Given the description of an element on the screen output the (x, y) to click on. 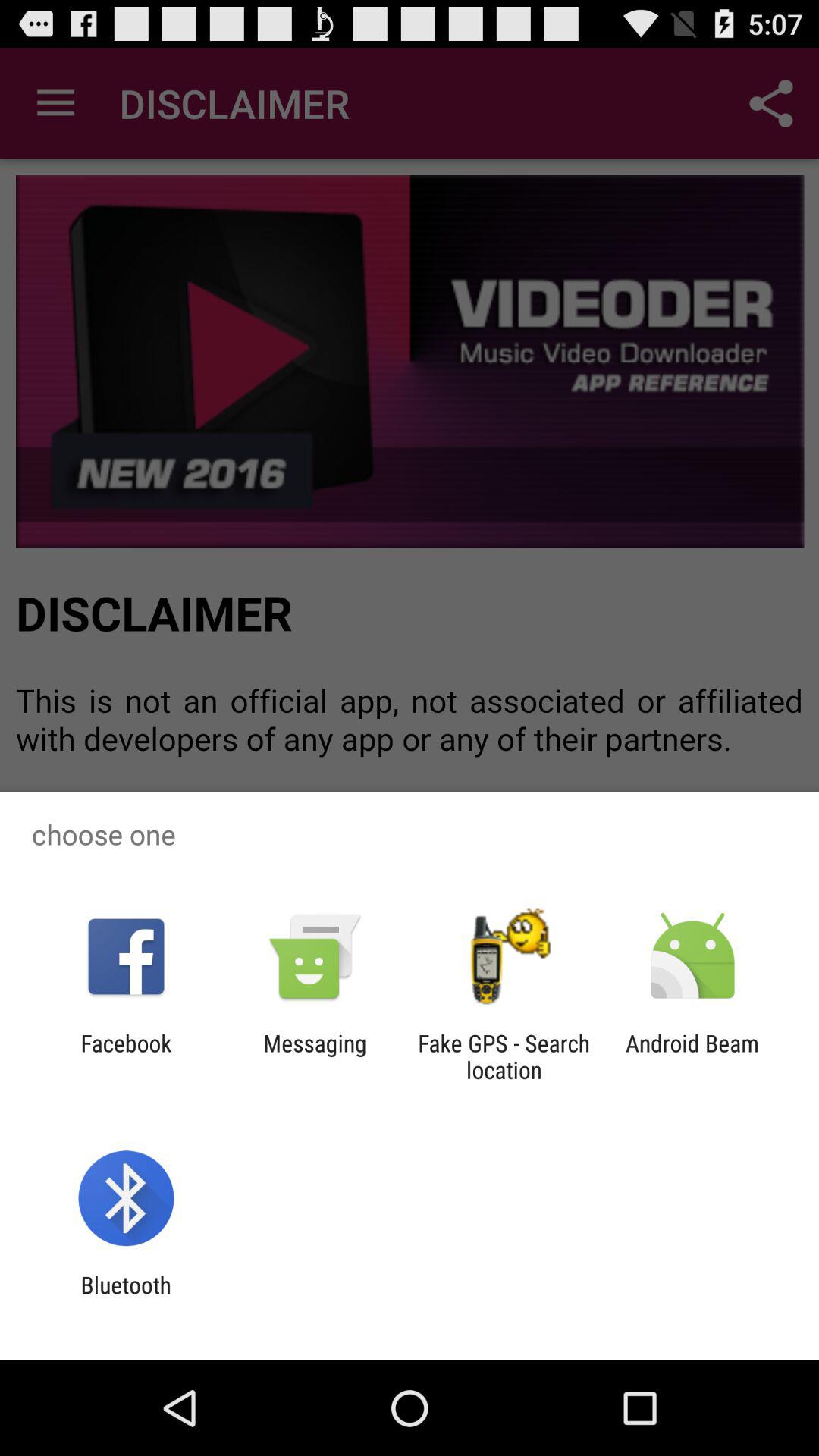
turn off the icon to the right of the facebook item (314, 1056)
